Given the description of an element on the screen output the (x, y) to click on. 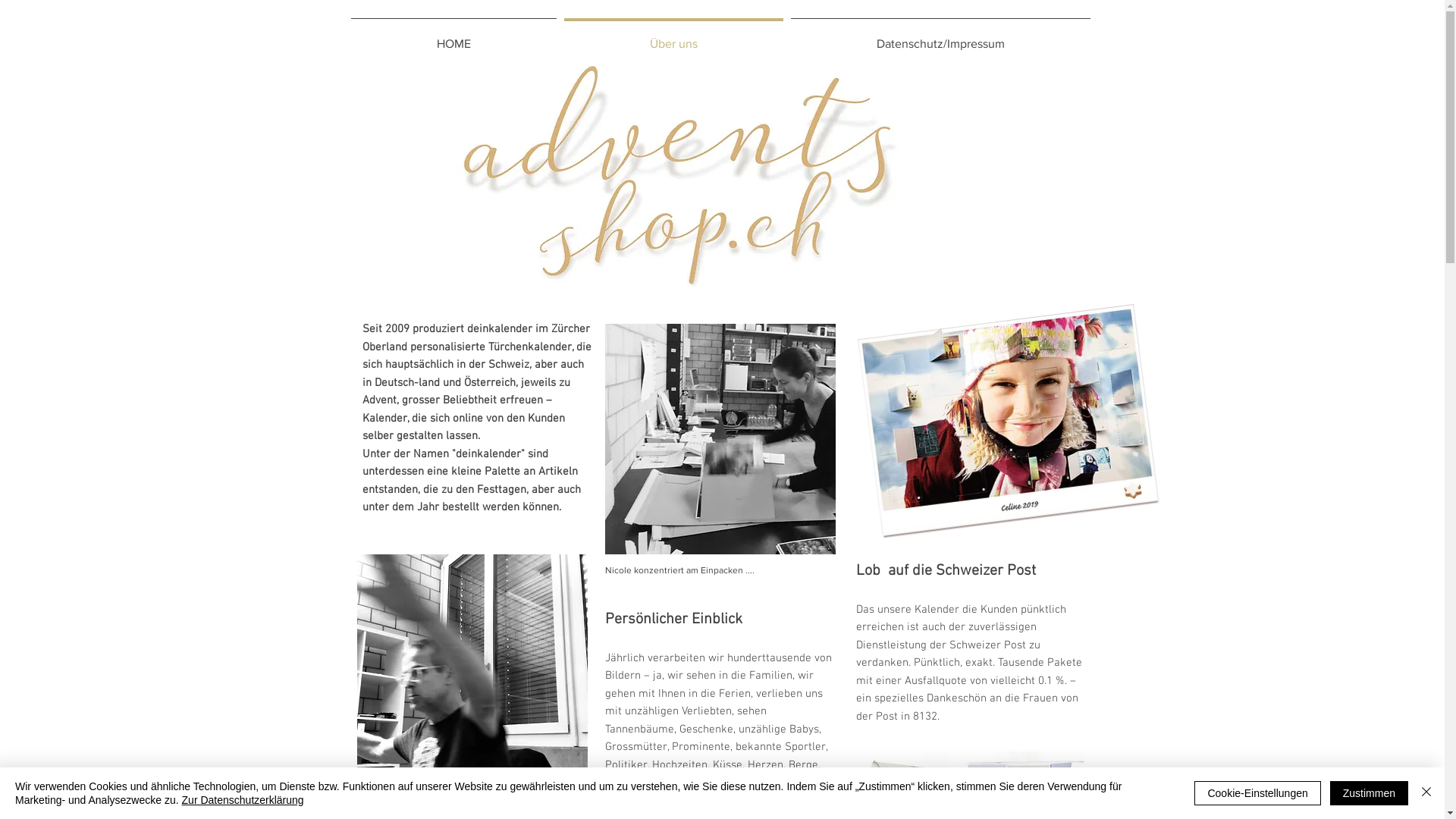
Cookie-Einstellungen Element type: text (1257, 793)
Zustimmen Element type: text (1369, 793)
Facebook Like Element type: hover (1044, 202)
Datenschutz/Impressum Element type: text (940, 37)
HOME Element type: text (453, 37)
